Given the description of an element on the screen output the (x, y) to click on. 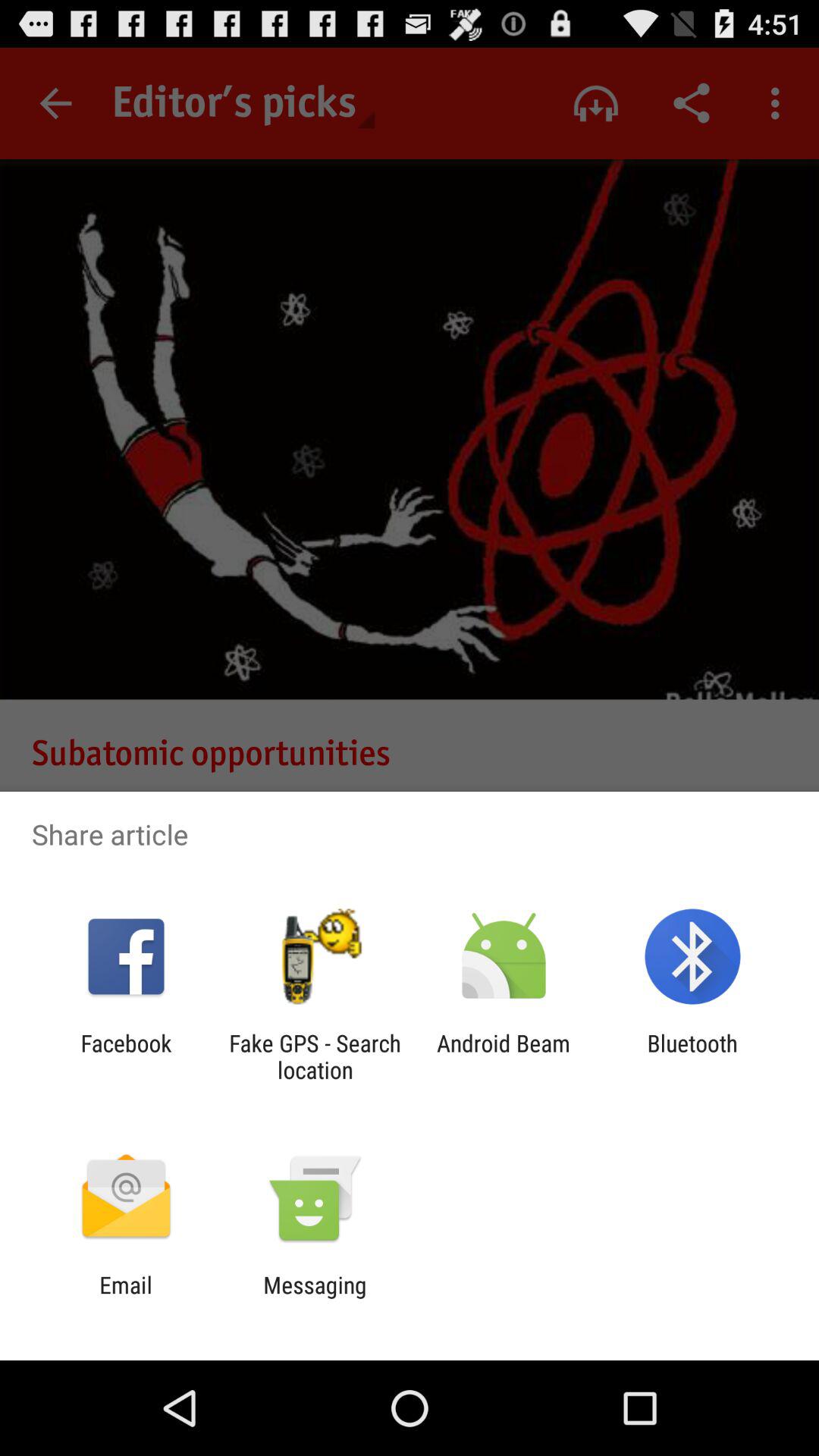
click the icon to the left of the fake gps search item (125, 1056)
